Given the description of an element on the screen output the (x, y) to click on. 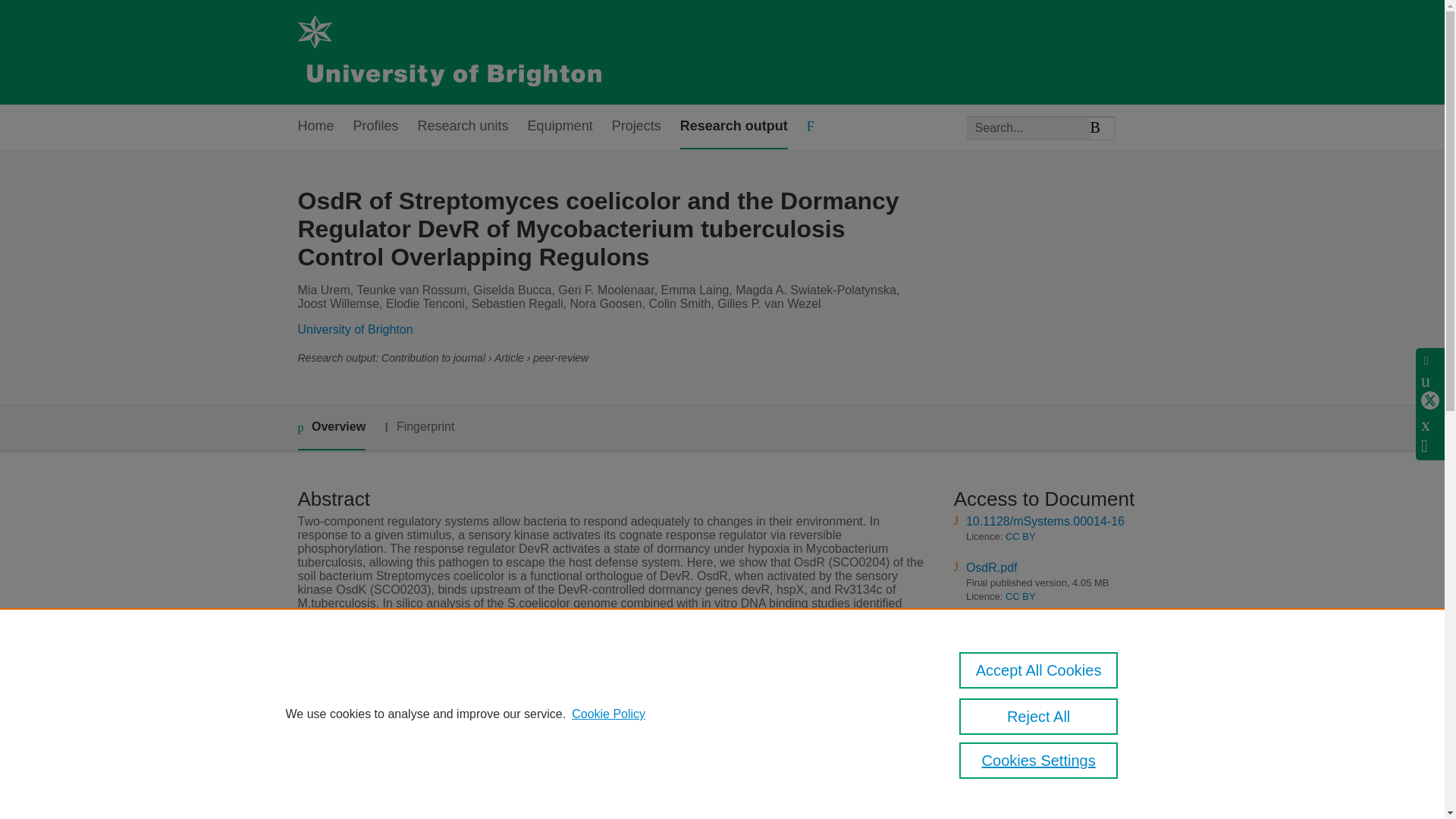
Overview (331, 427)
The University of Brighton Home (448, 52)
CC BY (1020, 595)
Research output (733, 126)
CC BY (1020, 536)
Profiles (375, 126)
Projects (636, 126)
Equipment (559, 126)
Research units (462, 126)
mSystems (540, 758)
OsdR.pdf (991, 567)
University of Brighton (354, 328)
Fingerprint (419, 426)
